Given the description of an element on the screen output the (x, y) to click on. 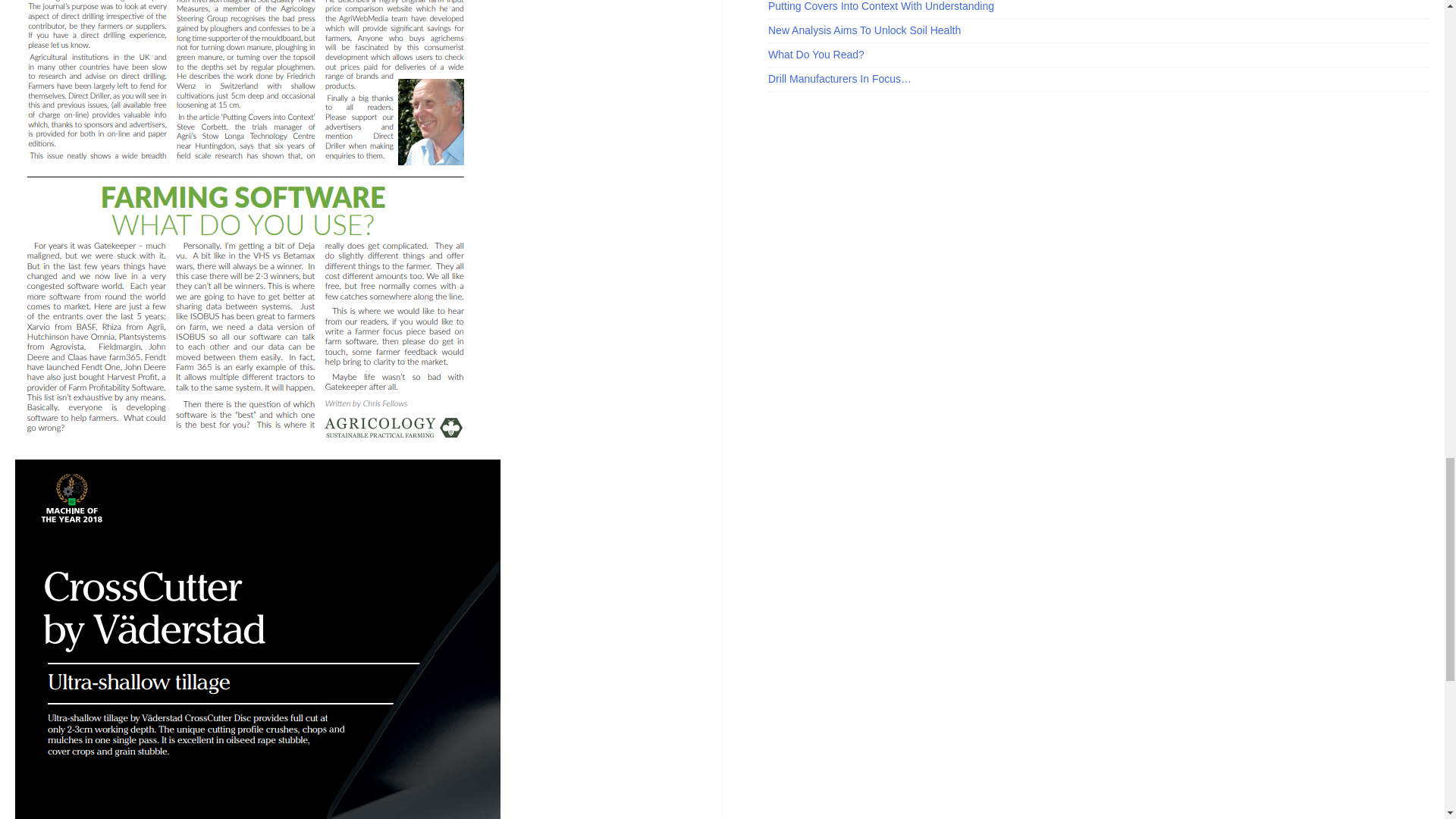
3rd party ad content (881, 220)
